Given the description of an element on the screen output the (x, y) to click on. 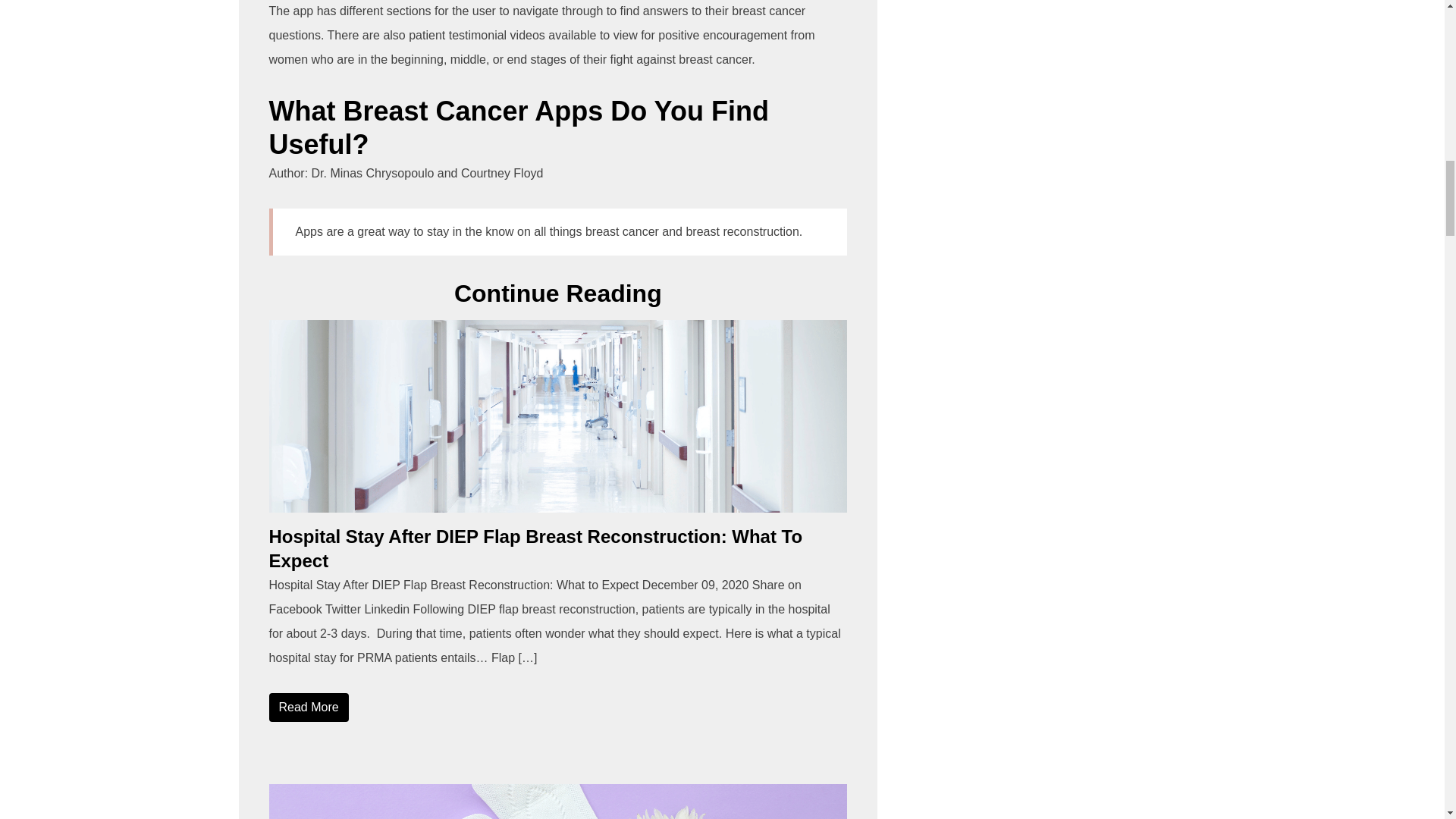
Breast Reconstruction Surgery and Your Period (557, 801)
